Given the description of an element on the screen output the (x, y) to click on. 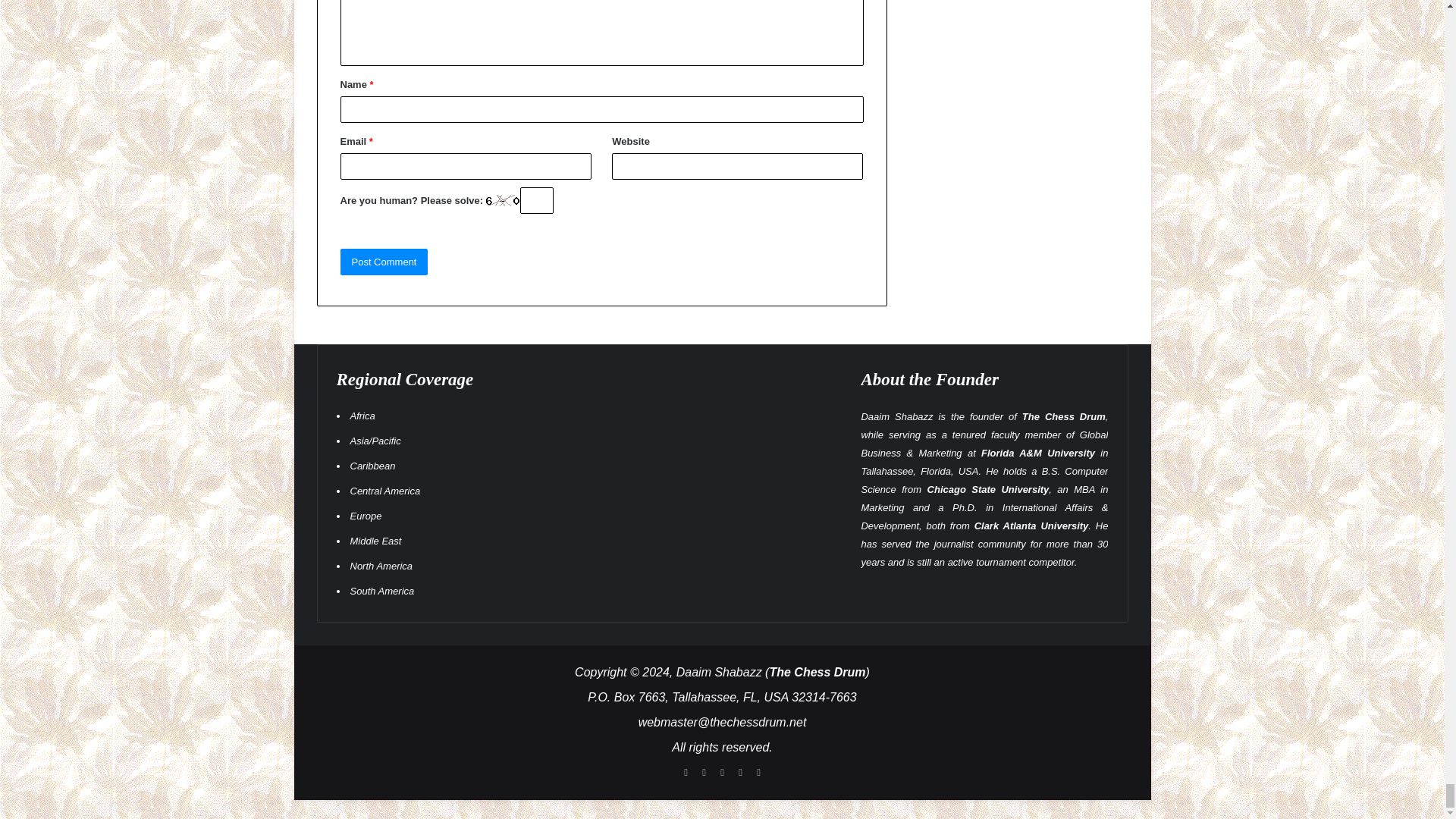
Post Comment (383, 261)
